Given the description of an element on the screen output the (x, y) to click on. 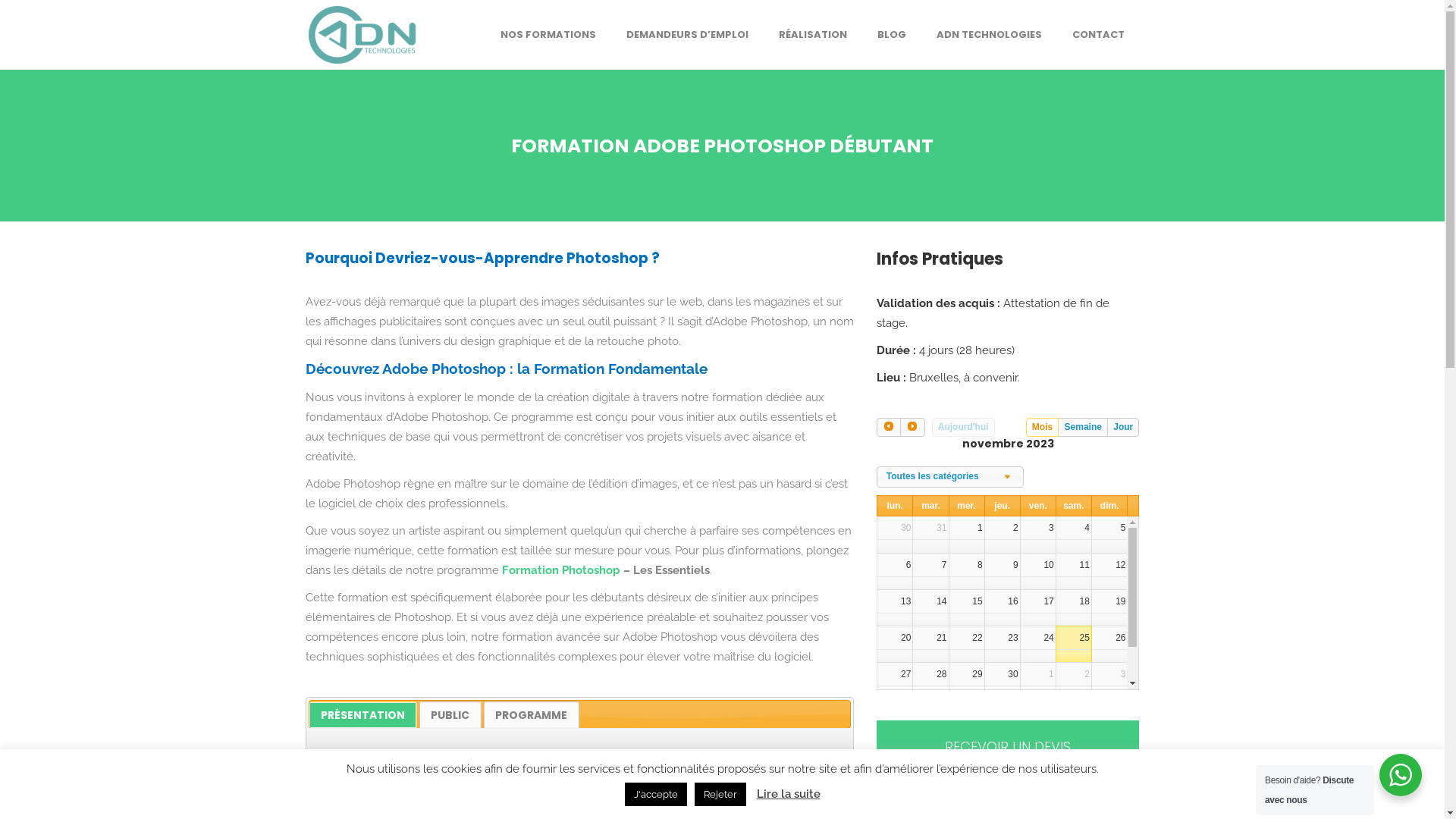
PUBLIC Element type: text (450, 715)
J'accepte Element type: text (655, 794)
Semaine Element type: text (1082, 426)
ADN TECHNOLOGIES Element type: text (988, 34)
Mois Element type: text (1042, 426)
Lire la suite Element type: text (788, 793)
Formation Photoshop Element type: text (561, 570)
Jour Element type: text (1123, 426)
Aujourd'hui Element type: text (962, 426)
NOS FORMATIONS Element type: text (548, 34)
CONTACT Element type: text (1098, 34)
PROGRAMME Element type: text (531, 715)
RECEVOIR UN DEVIS Element type: text (1007, 747)
BLOG Element type: text (890, 34)
Rejeter Element type: text (720, 794)
